Given the description of an element on the screen output the (x, y) to click on. 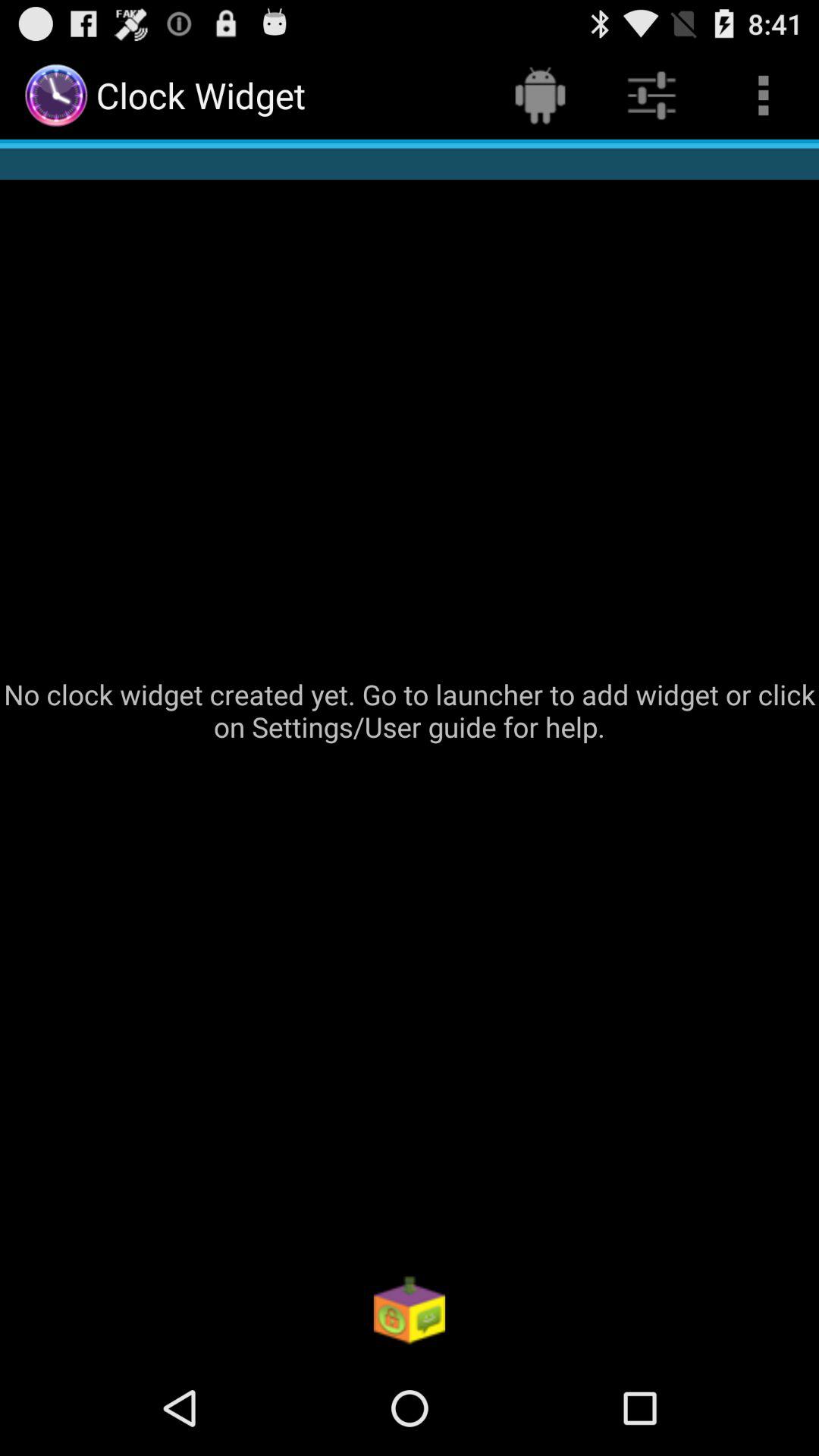
launch item above the no clock widget icon (540, 95)
